Given the description of an element on the screen output the (x, y) to click on. 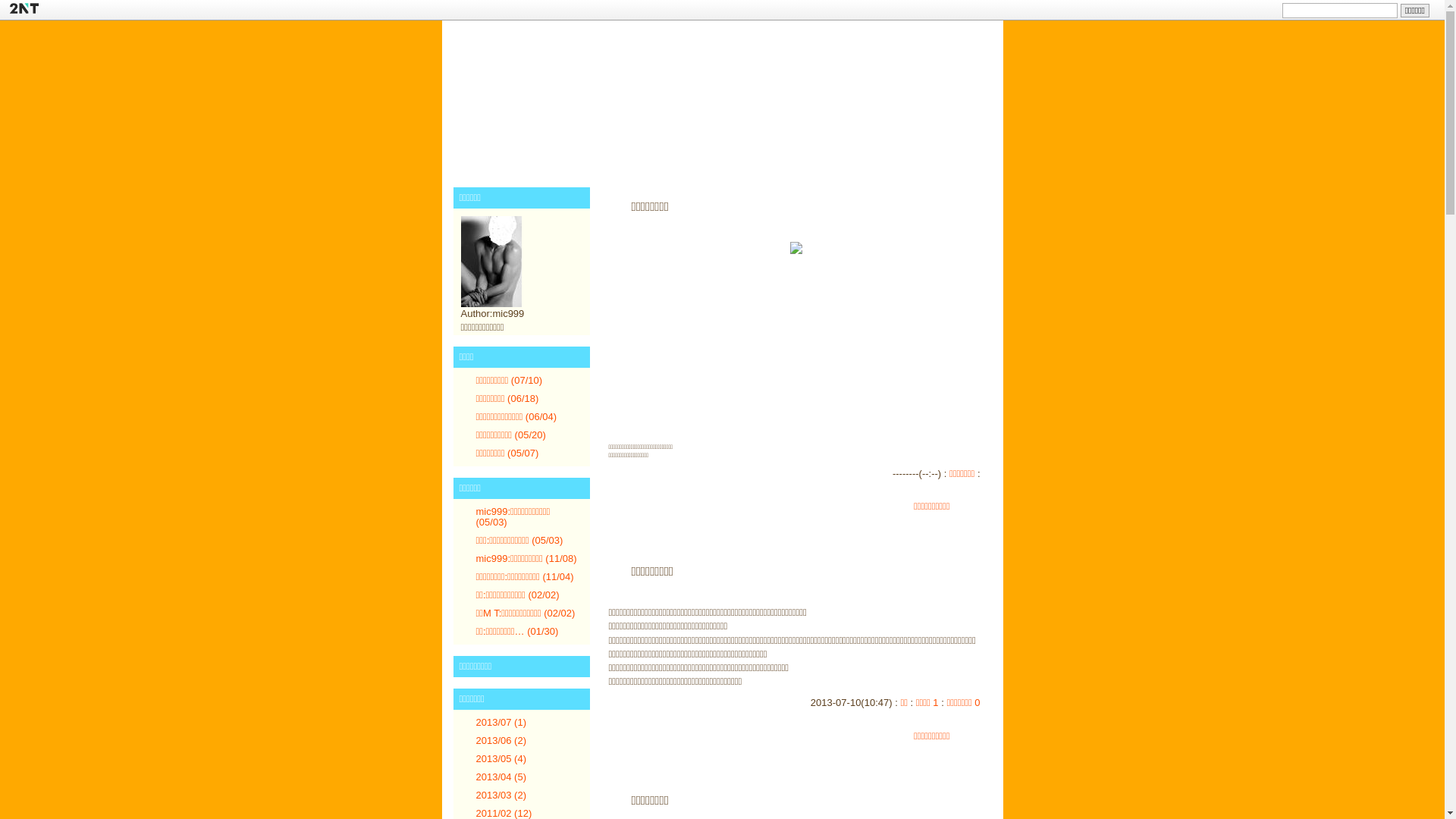
2013/04 (5) Element type: text (501, 776)
2013/03 (2) Element type: text (501, 794)
2013/06 (2) Element type: text (501, 740)
2013/07 (1) Element type: text (501, 722)
2013/05 (4) Element type: text (501, 758)
